Given the description of an element on the screen output the (x, y) to click on. 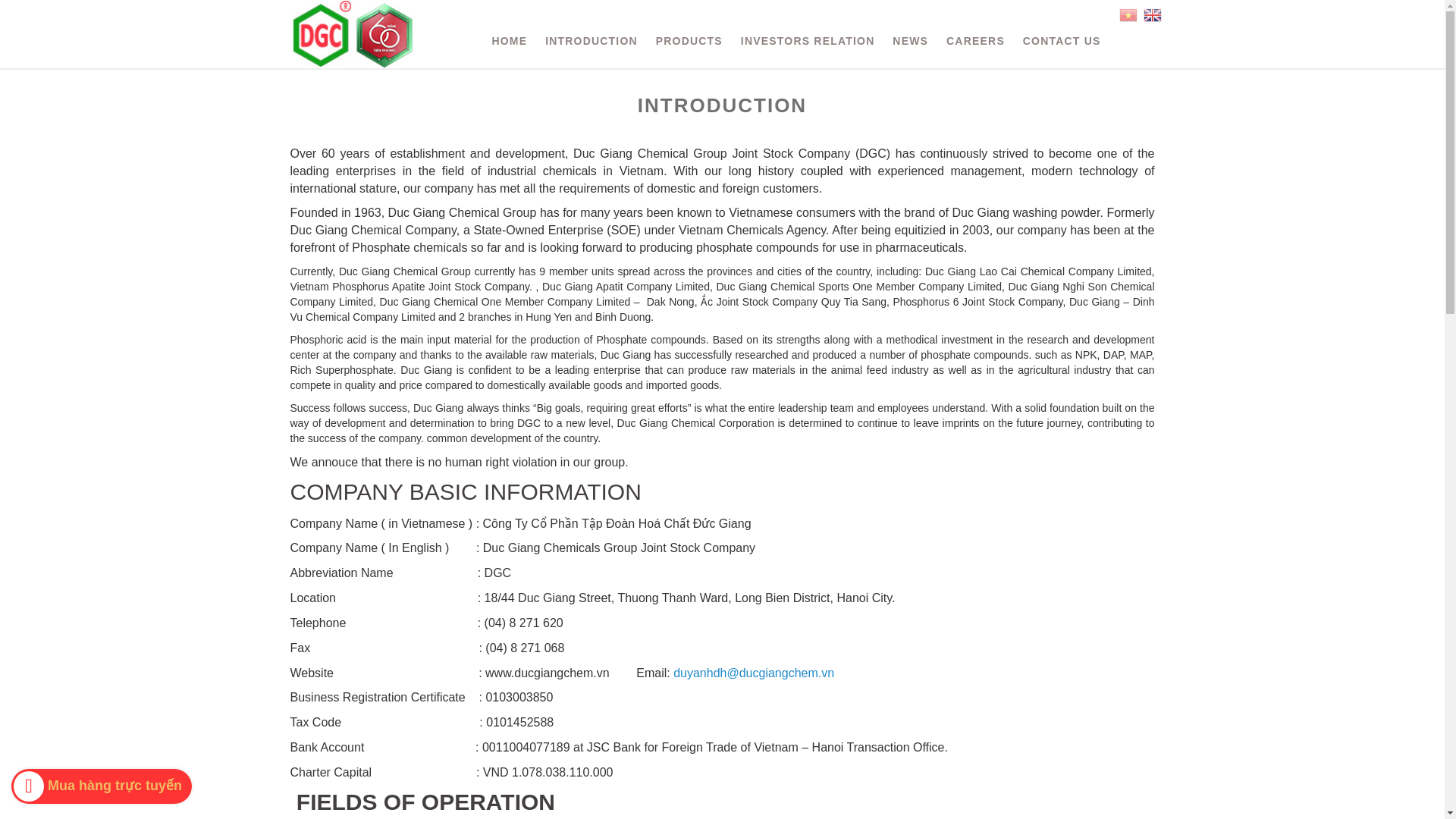
HOME (508, 40)
PRODUCTS (688, 40)
INTRODUCTION (591, 40)
